Given the description of an element on the screen output the (x, y) to click on. 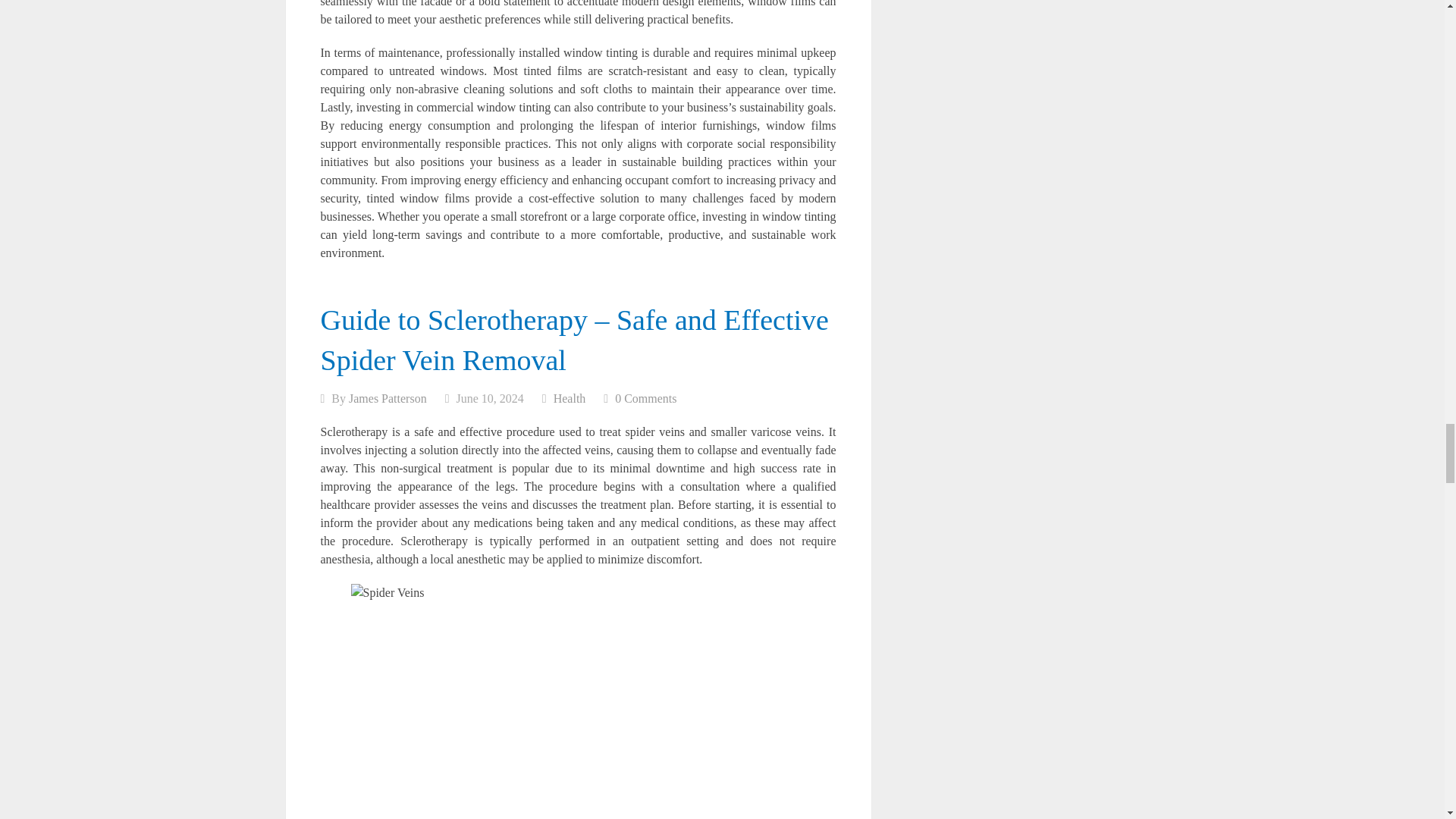
Posts by James Patterson (387, 398)
Health (569, 398)
James Patterson (387, 398)
0 Comments (645, 398)
